Given the description of an element on the screen output the (x, y) to click on. 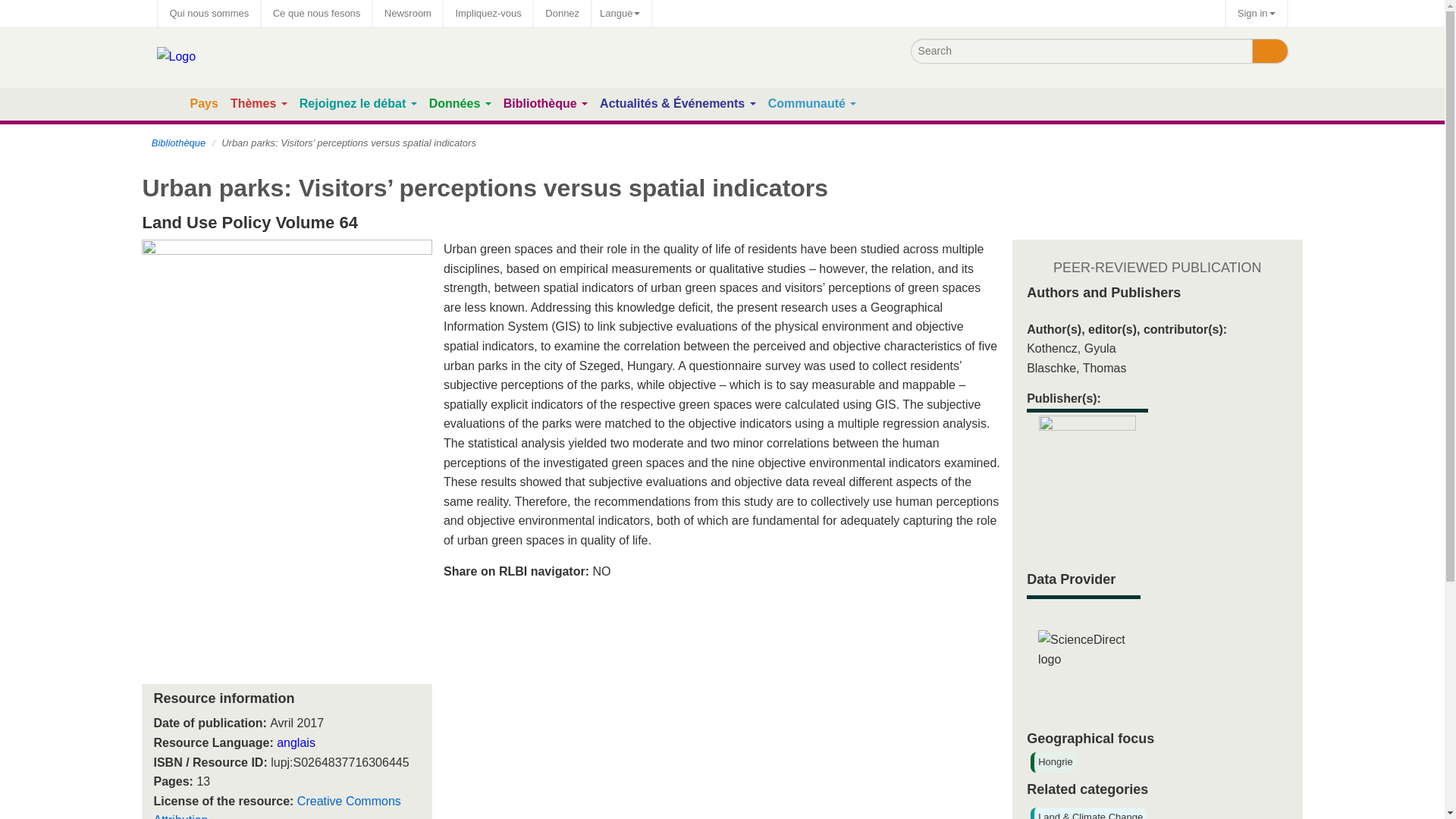
Home (169, 104)
Qui nous sommes (208, 13)
Sign in (1256, 13)
Search (1268, 50)
Ce que nous fesons (317, 13)
Pays Portfolios (202, 103)
Qui nous sommes (208, 13)
Donnez (562, 13)
Search (1268, 50)
